Given the description of an element on the screen output the (x, y) to click on. 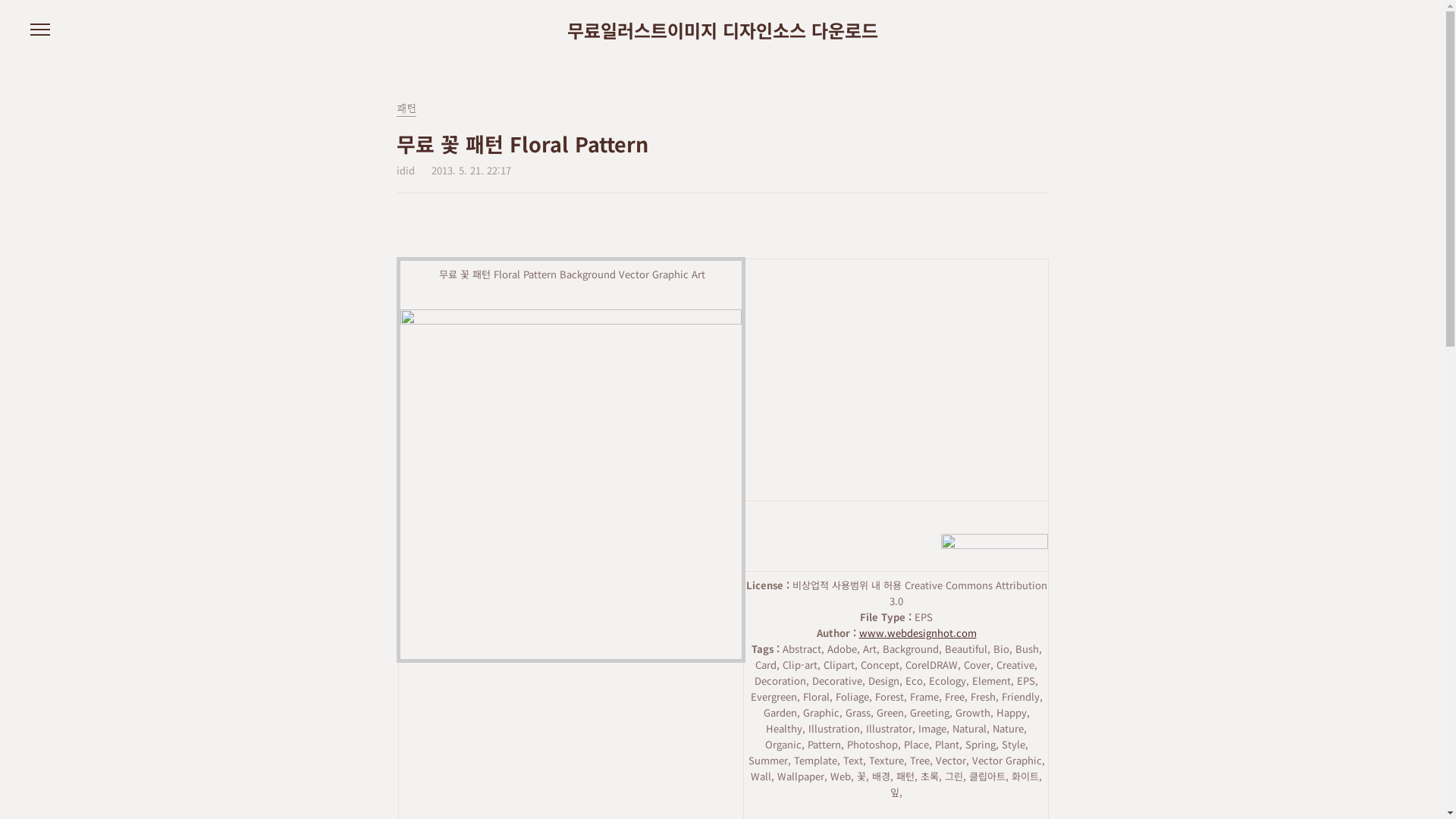
www.webdesignhot.com Element type: text (916, 632)
